Given the description of an element on the screen output the (x, y) to click on. 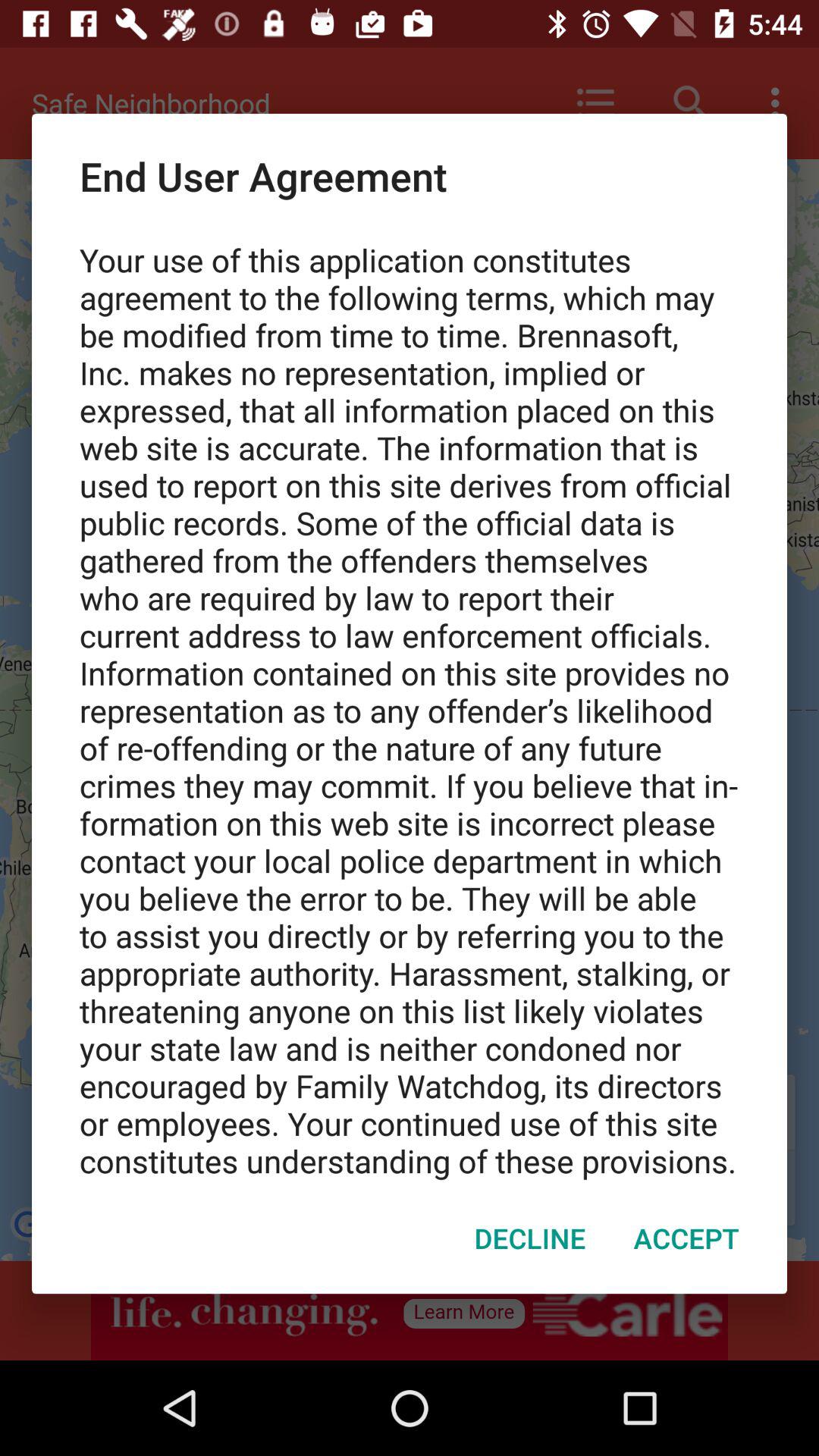
open the item below your use of icon (529, 1237)
